Given the description of an element on the screen output the (x, y) to click on. 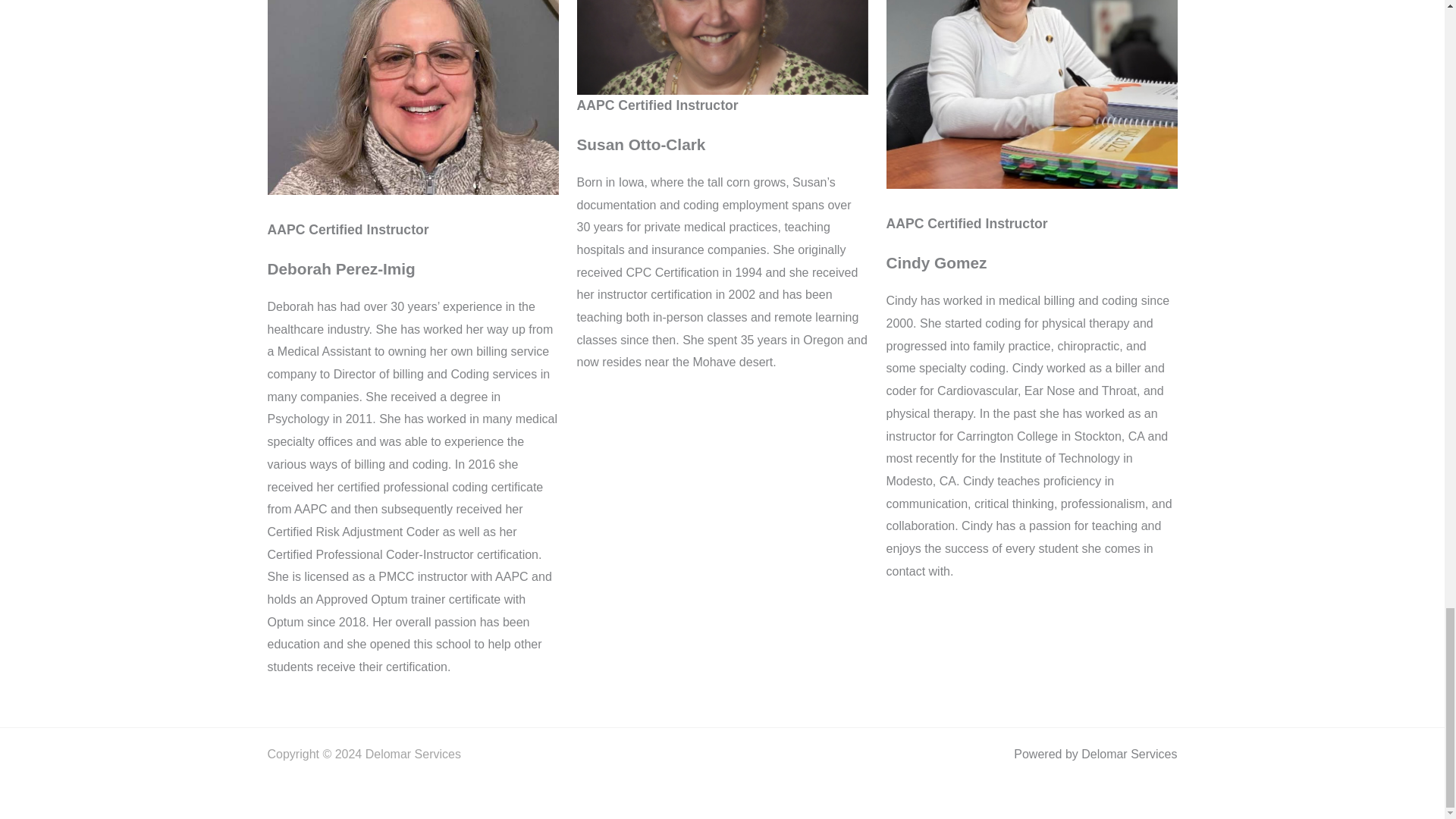
Instructors CPC Exam Preparation 3 cpc (721, 47)
Instructors CPC Exam Preparation 4 cpc (1030, 94)
Instructors CPC Exam Preparation 2 cpc (411, 97)
